Given the description of an element on the screen output the (x, y) to click on. 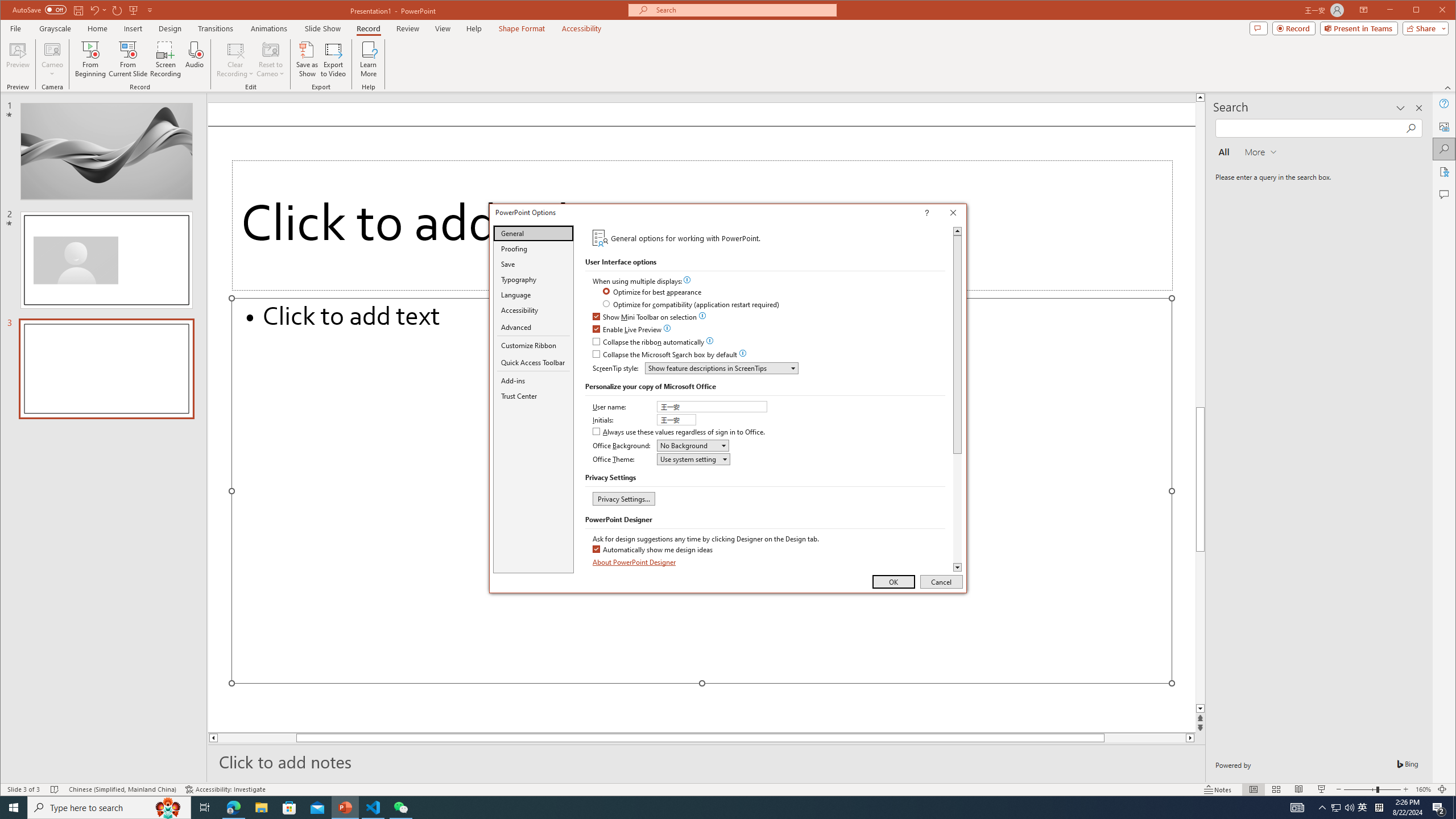
Collapse the Microsoft Search box by default (665, 354)
Show Mini Toolbar on selection (645, 317)
User name (712, 406)
Enable Live Preview (627, 330)
Proofing (533, 248)
From Current Slide... (127, 59)
